Given the description of an element on the screen output the (x, y) to click on. 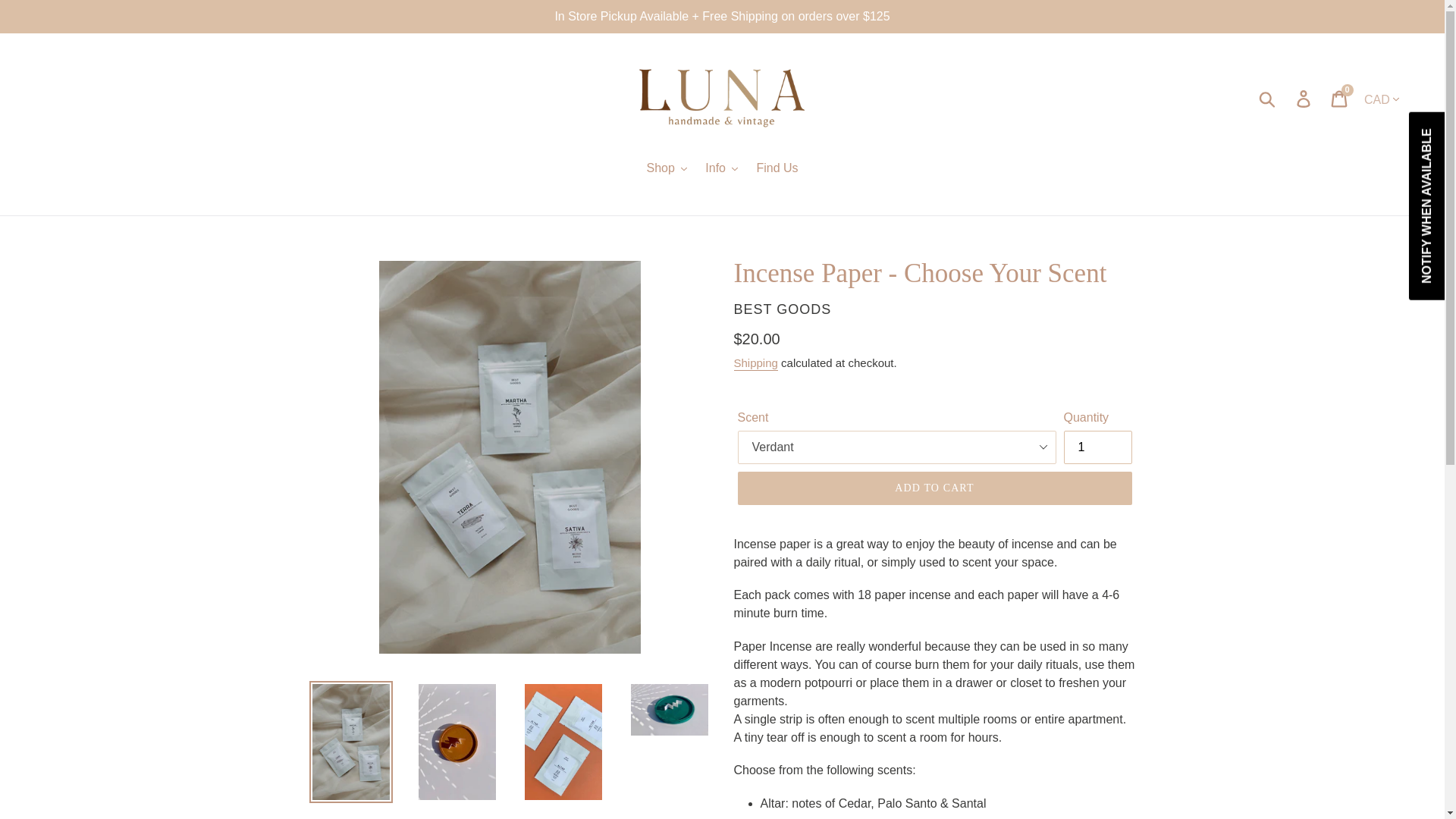
Log in (1304, 97)
Submit (1268, 97)
1 (1096, 447)
